Given the description of an element on the screen output the (x, y) to click on. 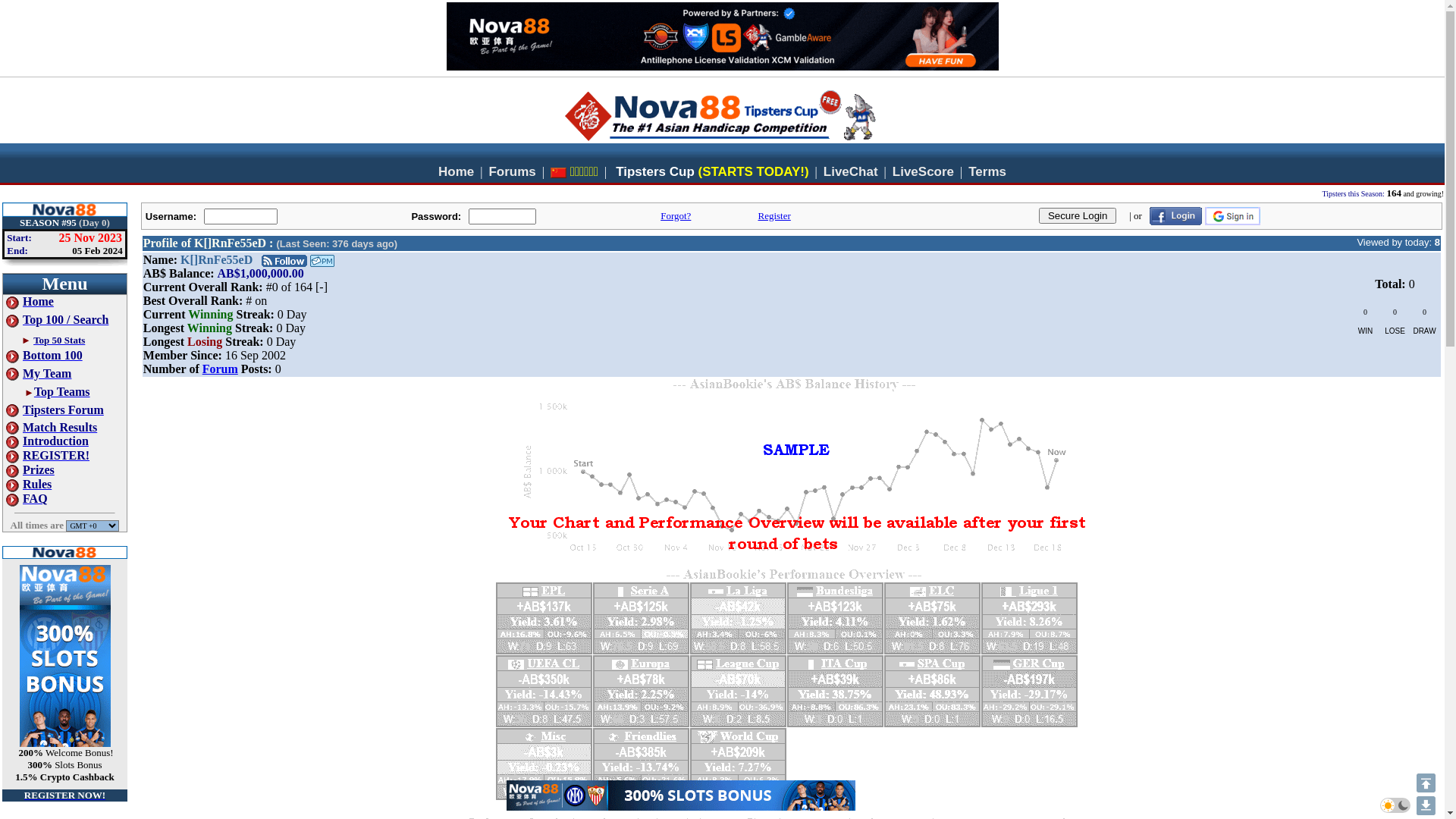
Home Element type: text (29, 300)
REGISTER! Element type: text (47, 454)
Tipsters Cup (STARTS TODAY!) Element type: text (711, 171)
Enable dark mode Element type: hover (1395, 804)
LiveScore Element type: text (922, 171)
My Team Element type: text (38, 373)
Home Element type: text (455, 171)
Prizes Element type: text (30, 469)
Top 50 Stats Element type: text (58, 339)
Rules Element type: text (28, 483)
Forum Element type: text (220, 368)
Bottom 100 Element type: text (44, 354)
LiveChat Element type: text (850, 171)
 Secure Login  Element type: text (1077, 215)
Terms Element type: text (987, 171)
One-Click Login with Facebook Element type: hover (1175, 216)
REGISTER NOW! Element type: text (64, 793)
Forums Element type: text (511, 171)
Forgot? Element type: text (675, 214)
Introduction Element type: text (47, 440)
FAQ Element type: text (26, 498)
Go to bottom Element type: hover (1425, 805)
One-Click Login with Google Element type: hover (1232, 216)
Match Results Element type: text (51, 426)
Go back to top Element type: hover (1425, 782)
Register Element type: text (773, 214)
Top Teams Element type: text (62, 391)
Tipsters Forum Element type: text (54, 409)
Top 100 / Search Element type: text (57, 319)
